Given the description of an element on the screen output the (x, y) to click on. 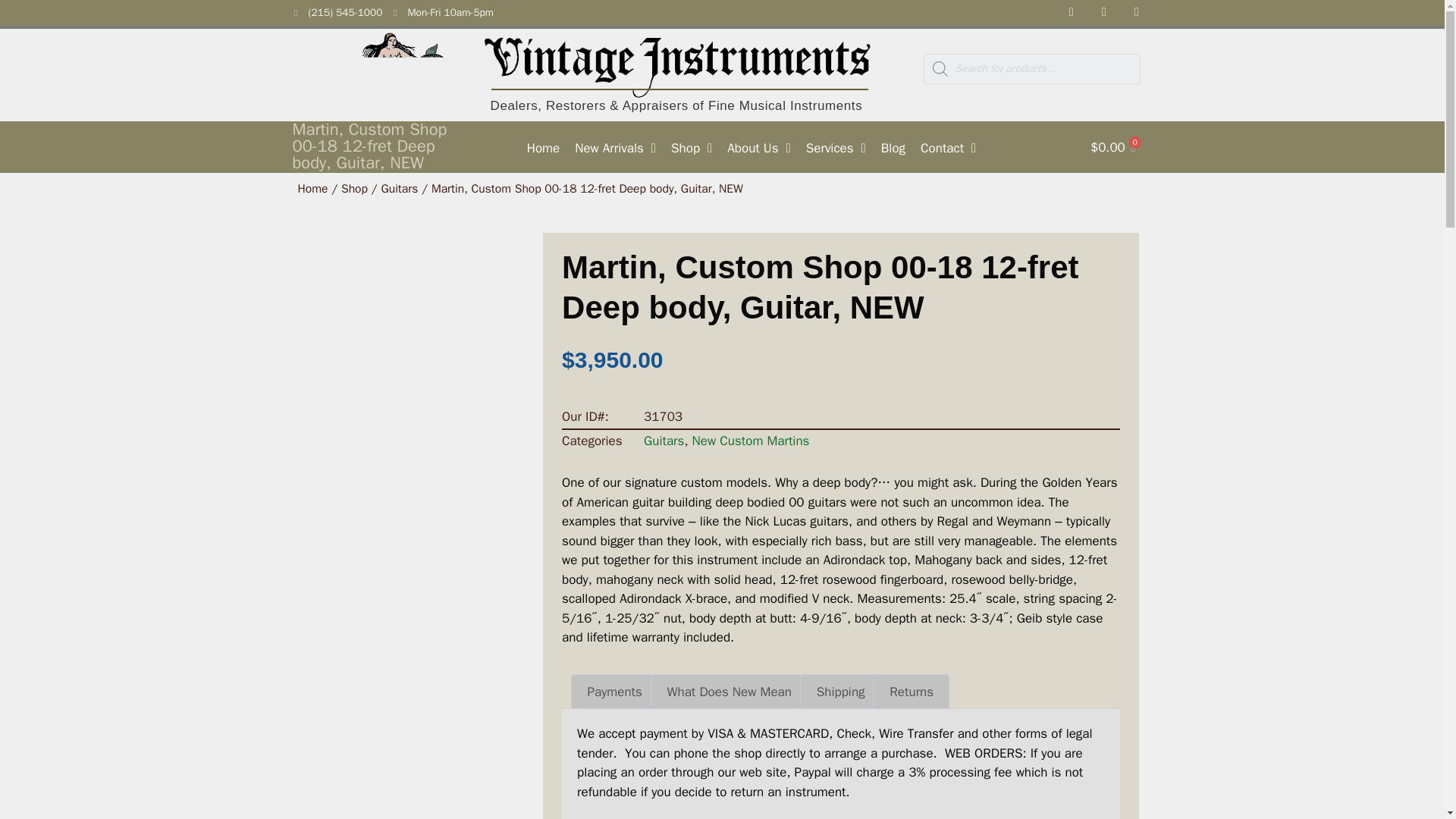
New Arrivals (615, 148)
Home (543, 148)
Shop (691, 148)
